Given the description of an element on the screen output the (x, y) to click on. 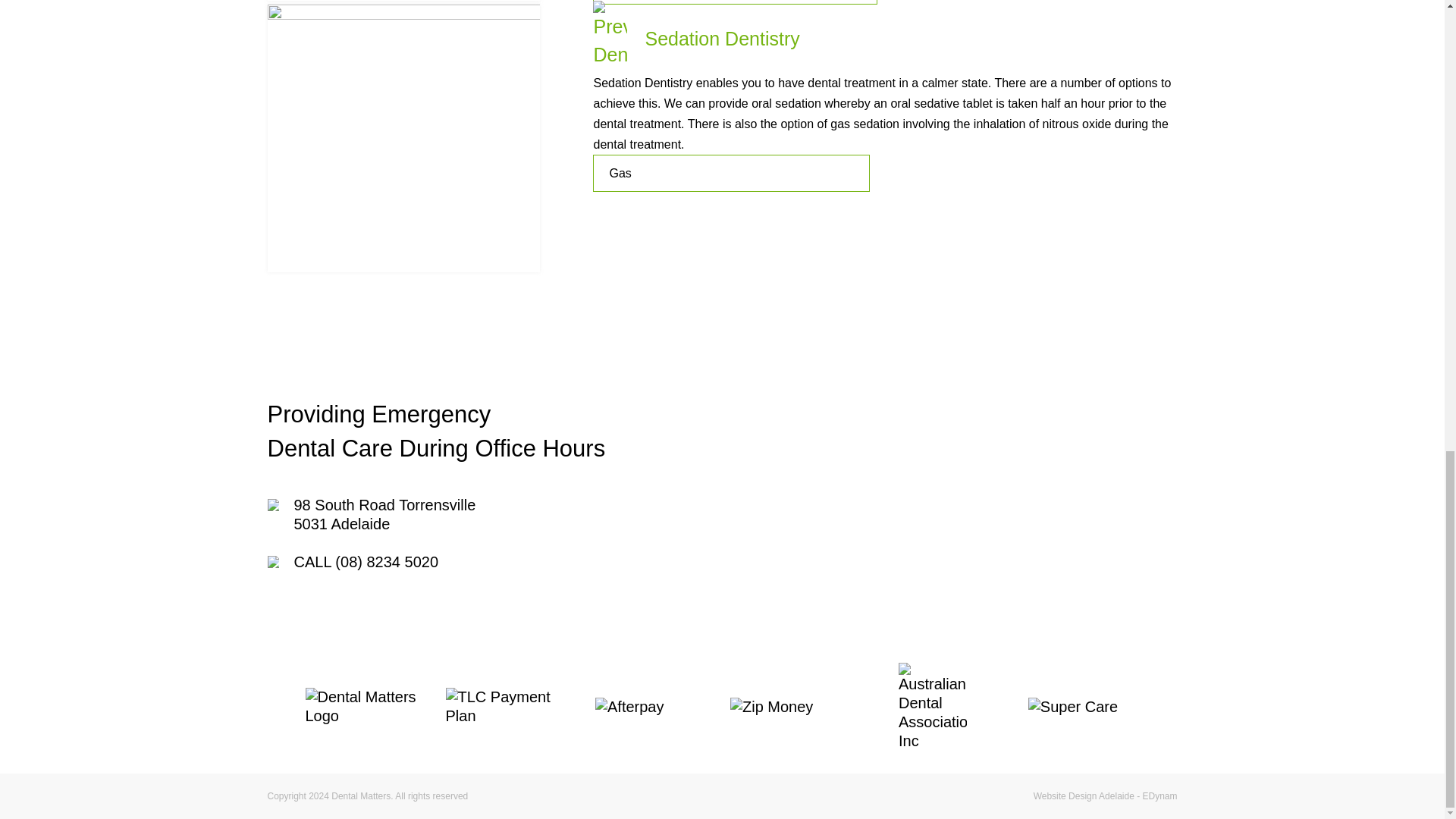
Web Design Adelaide (1105, 796)
services-sedation-dentistry-thumbnail (403, 137)
